Given the description of an element on the screen output the (x, y) to click on. 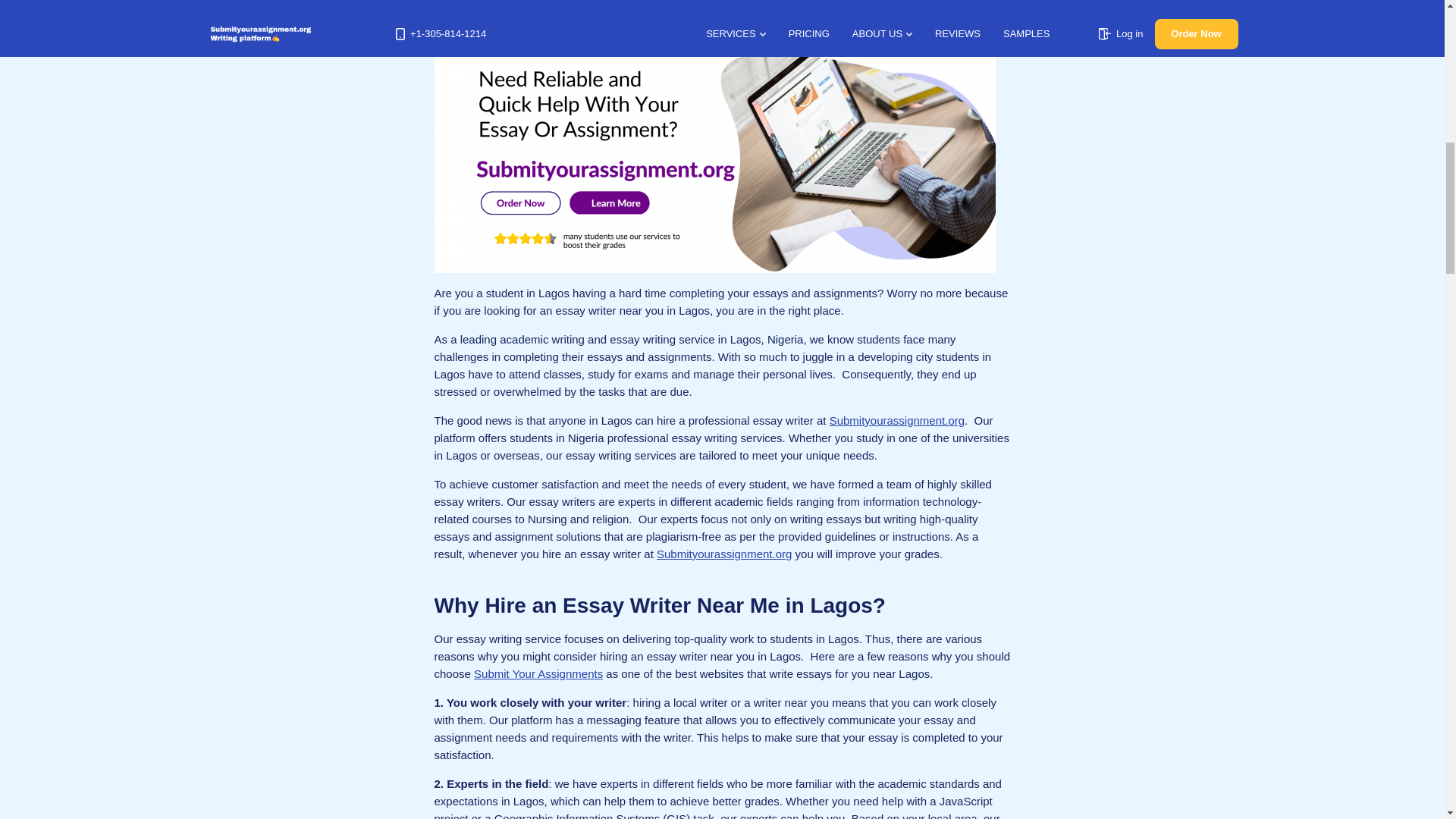
Submityourassignment.org (896, 420)
Submit Your Assignments (538, 673)
Submityourassignment.org (724, 553)
